Given the description of an element on the screen output the (x, y) to click on. 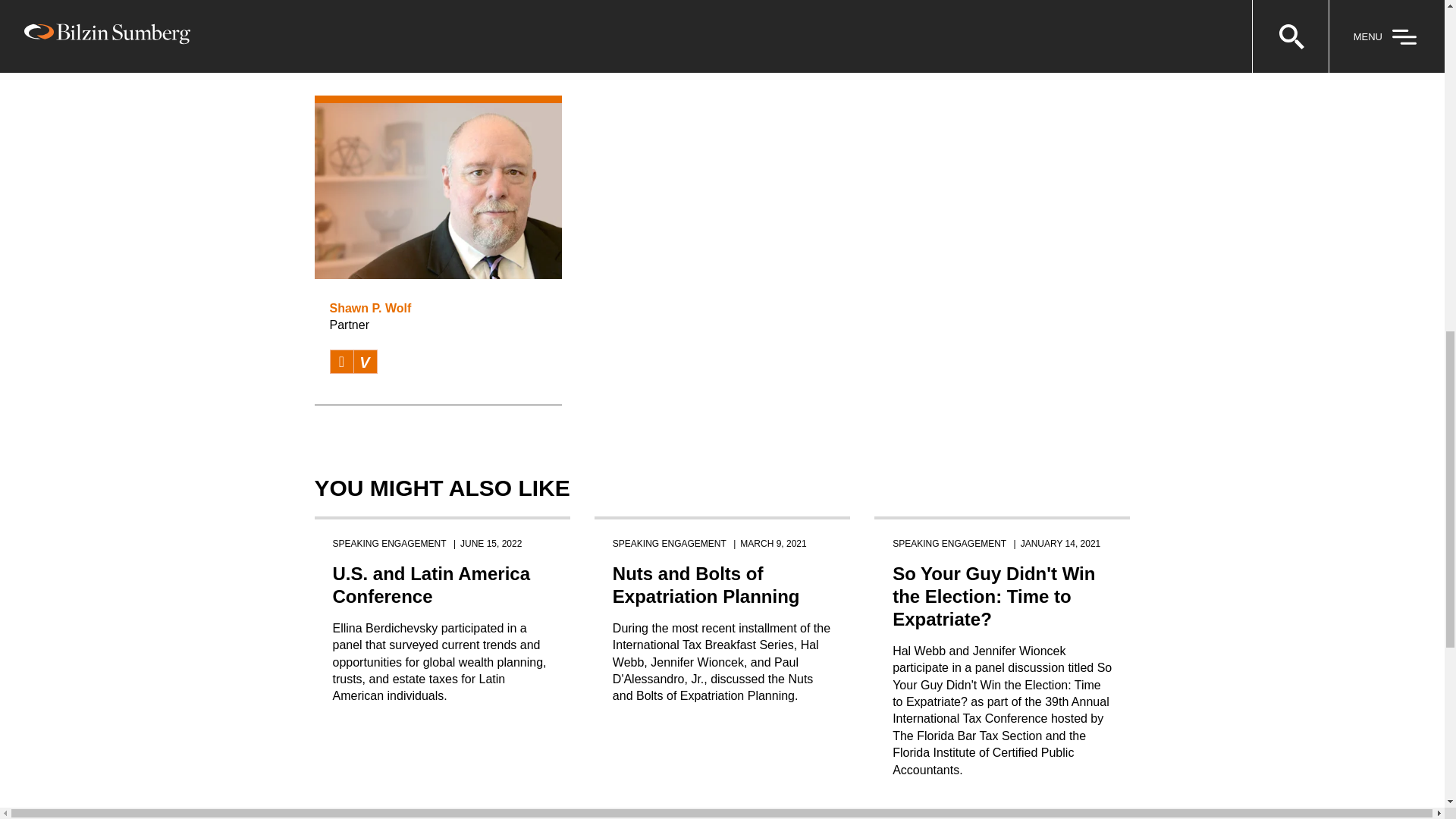
vCard (364, 361)
linkedin (341, 361)
Shawn P. Wolf (369, 308)
